Given the description of an element on the screen output the (x, y) to click on. 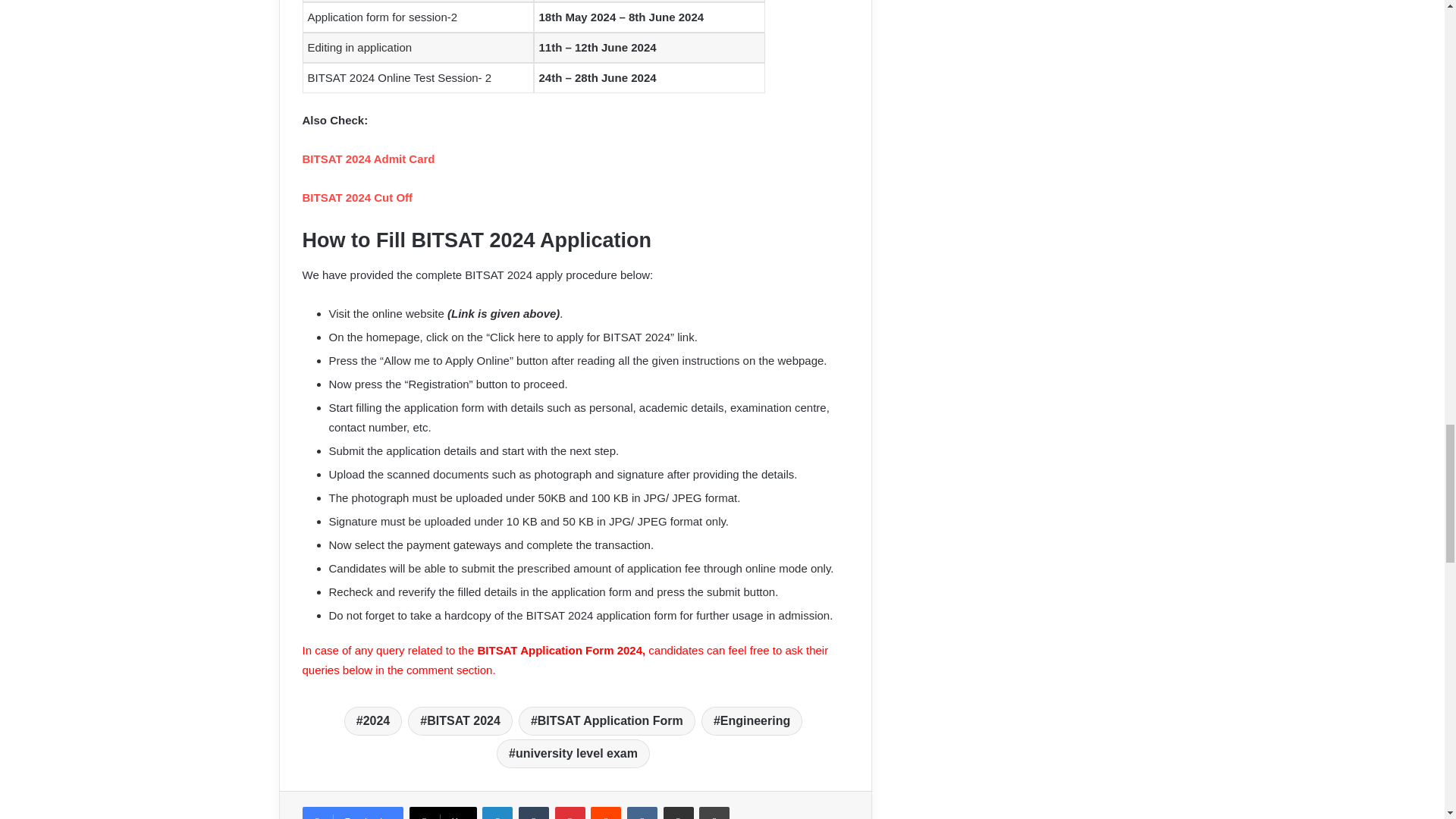
BITSAT 2024 (459, 720)
2024 (373, 720)
BITSAT 2024 Cut Off  (357, 196)
Share via Email (678, 812)
Reddit (606, 812)
X (443, 812)
VKontakte (642, 812)
Engineering (751, 720)
BITSAT Application Form (606, 720)
Reddit (606, 812)
